Given the description of an element on the screen output the (x, y) to click on. 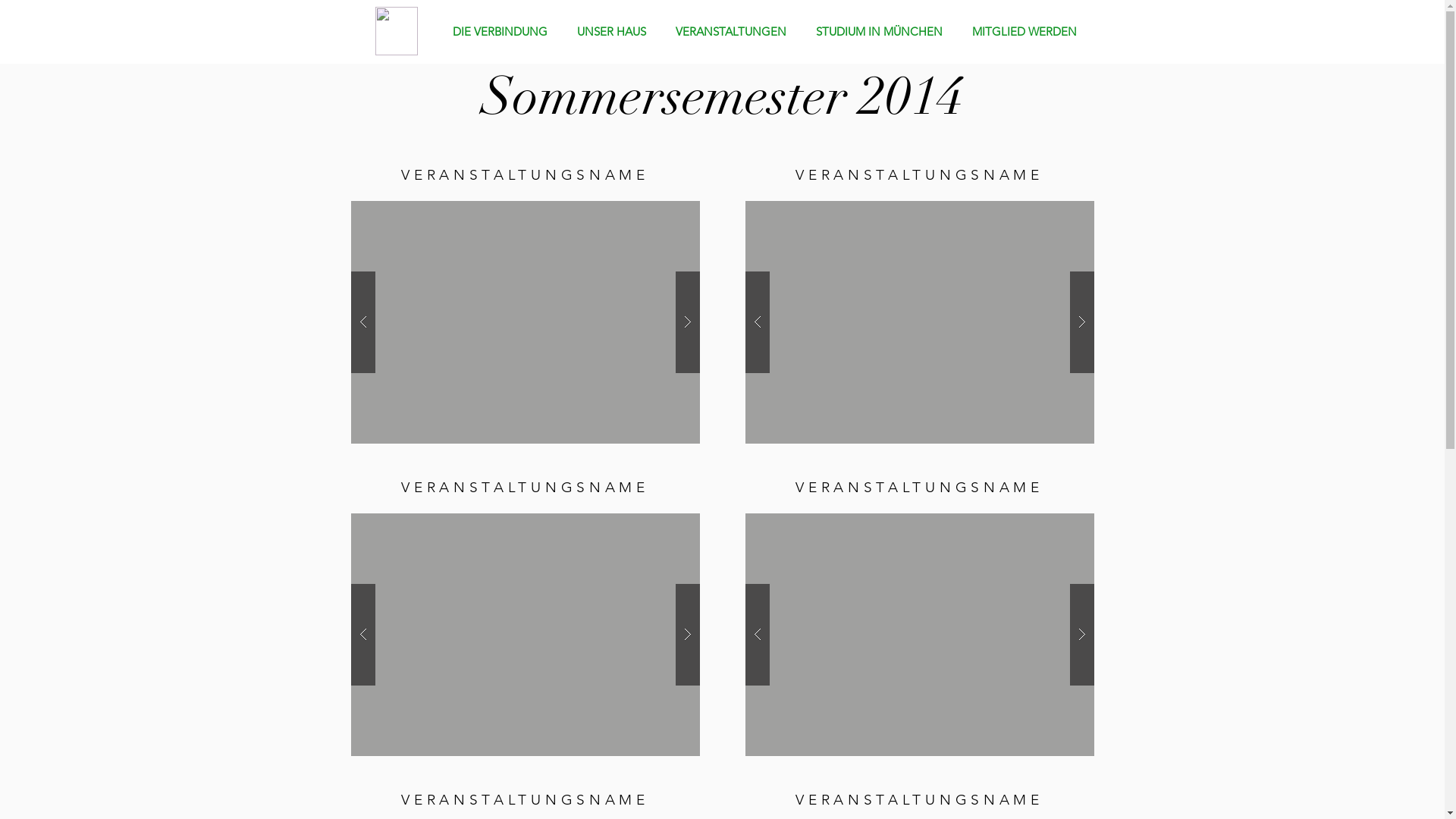
UNSER HAUS Element type: text (614, 31)
VERANSTALTUNGEN Element type: text (734, 31)
DIE VERBINDUNG Element type: text (503, 31)
logo-big.png Element type: hover (395, 30)
MITGLIED WERDEN Element type: text (1026, 31)
